Given the description of an element on the screen output the (x, y) to click on. 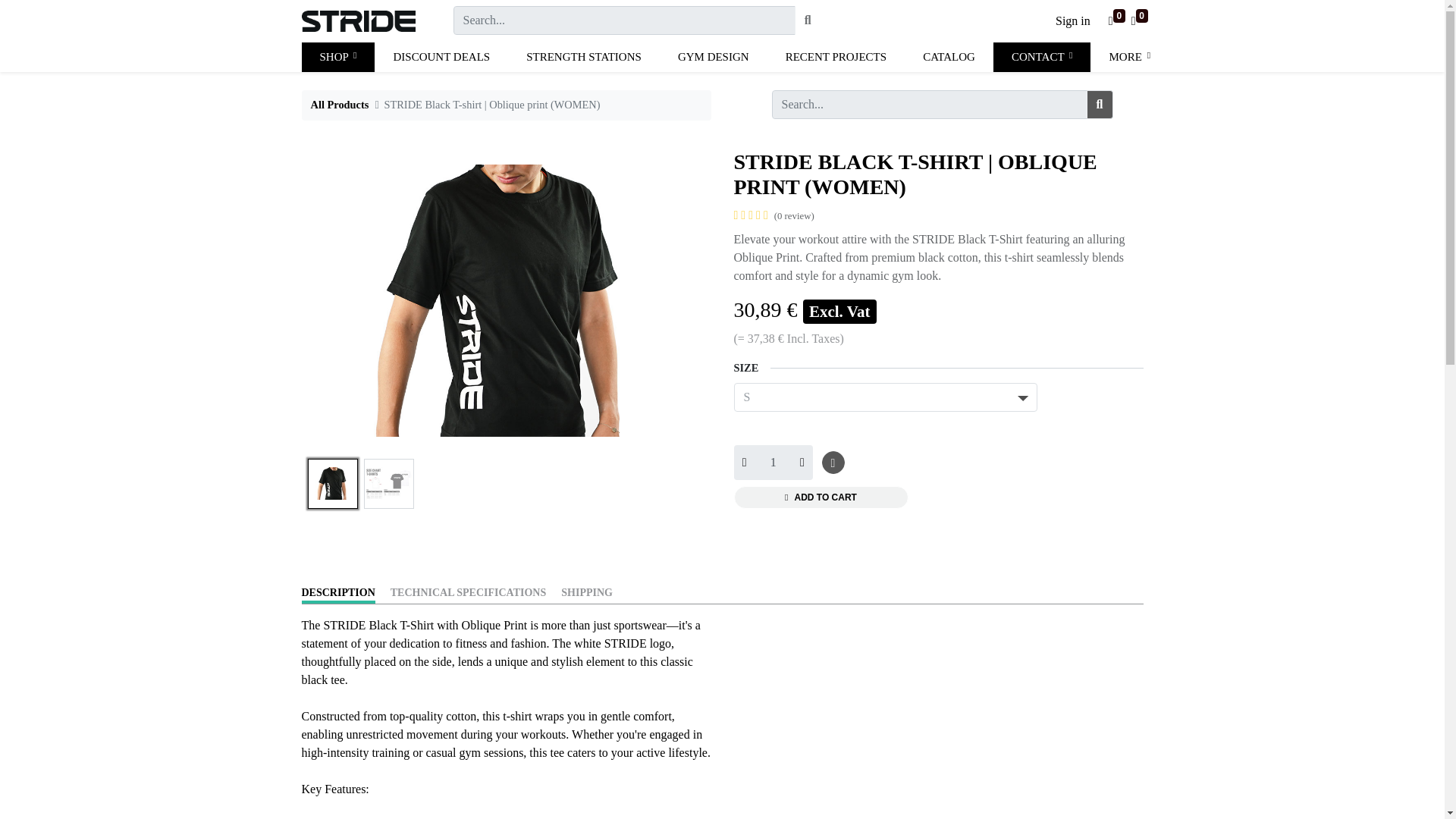
SHOP (338, 57)
1 (773, 462)
STRIDE Europe (357, 20)
Search (807, 20)
Sign in (1072, 20)
